Given the description of an element on the screen output the (x, y) to click on. 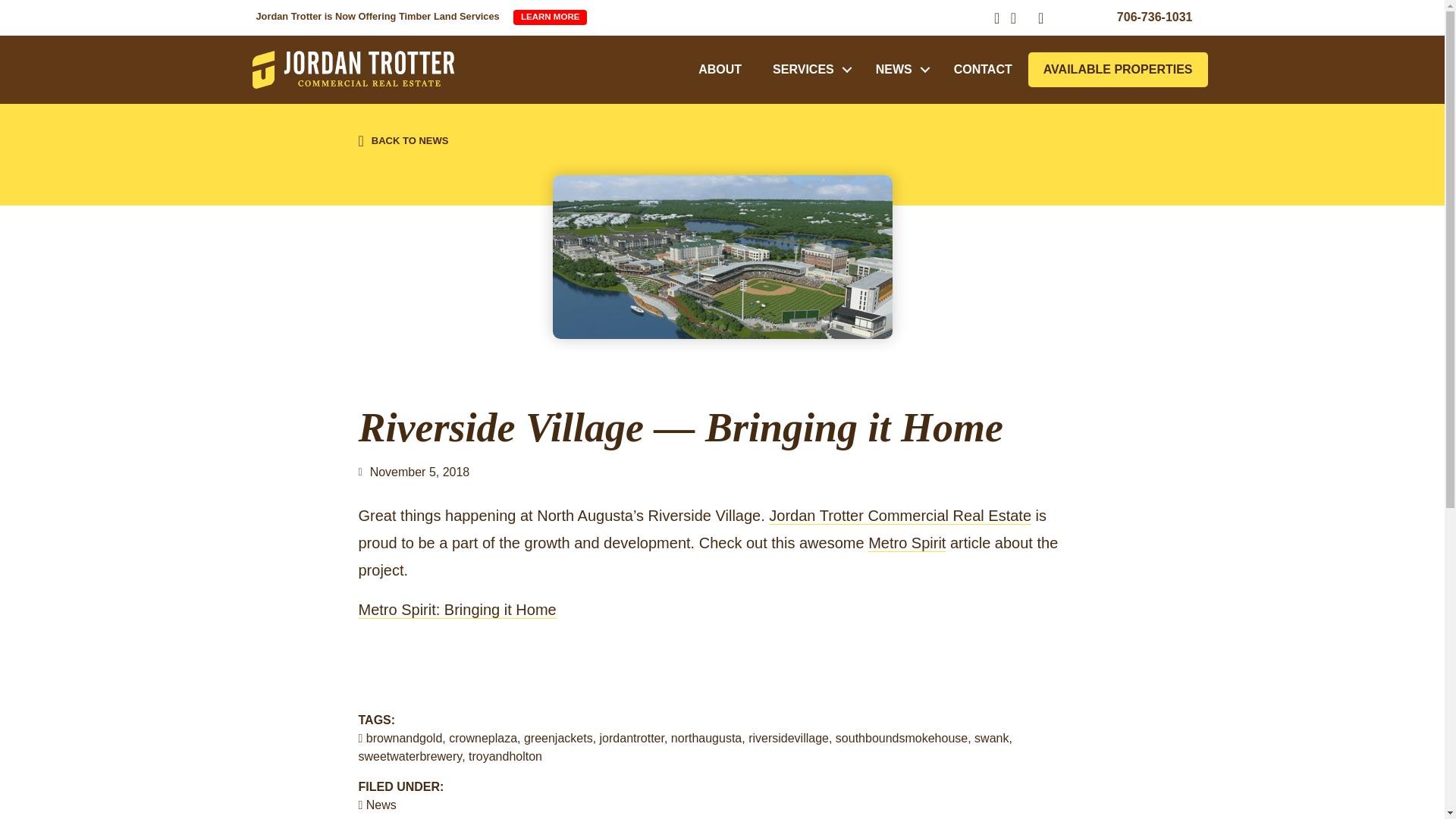
AVAILABLE PROPERTIES (1117, 69)
706-736-1031 (1154, 16)
Jordan Trotter is Now Offering Timber Land Services (549, 17)
jordantrotter (631, 738)
NEWS (898, 69)
CONTACT (983, 69)
Available Properties (1117, 69)
riversidevillage (788, 738)
Contact Jordan Trotter (983, 69)
swank (991, 738)
